Given the description of an element on the screen output the (x, y) to click on. 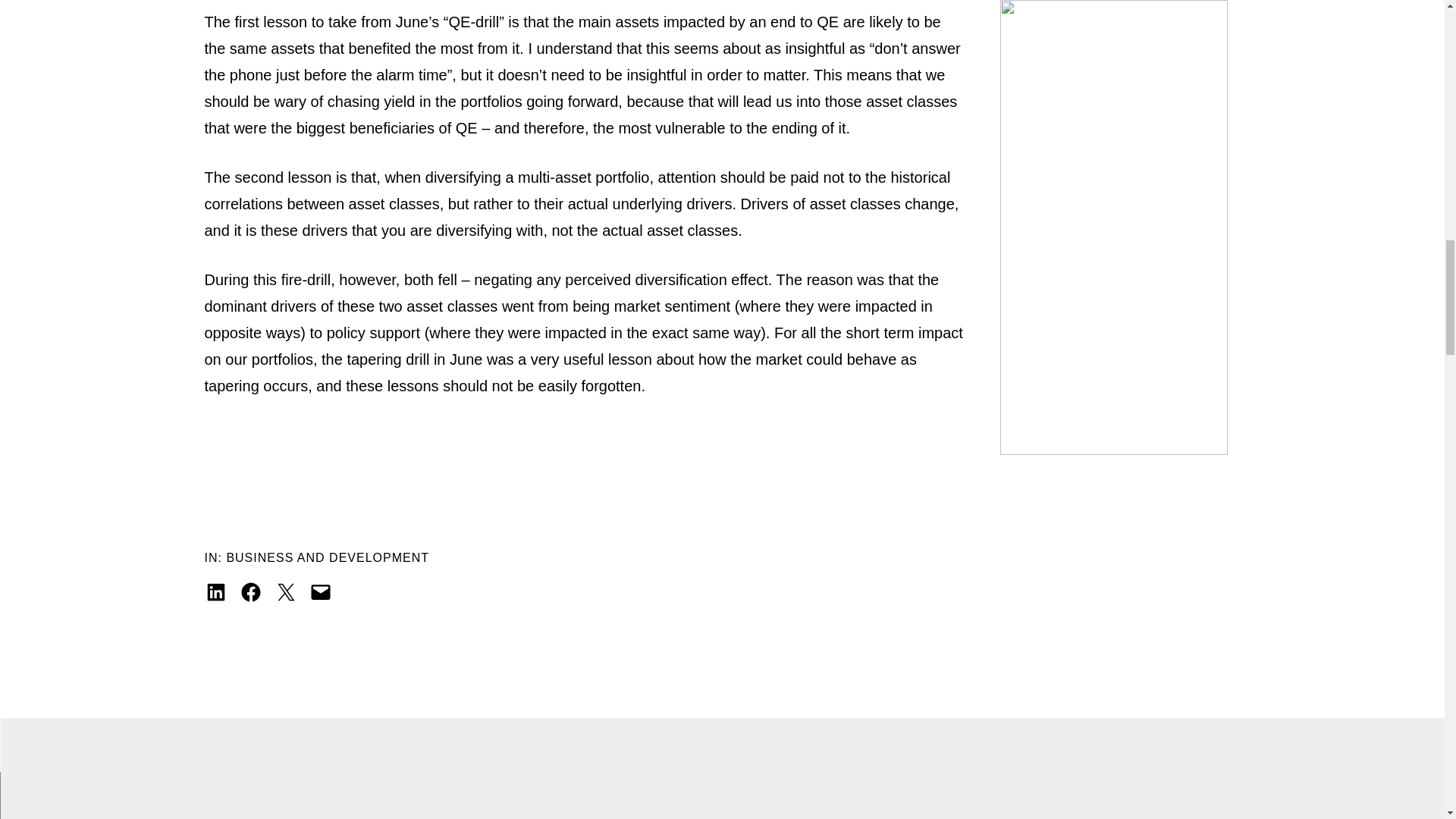
BUSINESS AND DEVELOPMENT (327, 557)
